Given the description of an element on the screen output the (x, y) to click on. 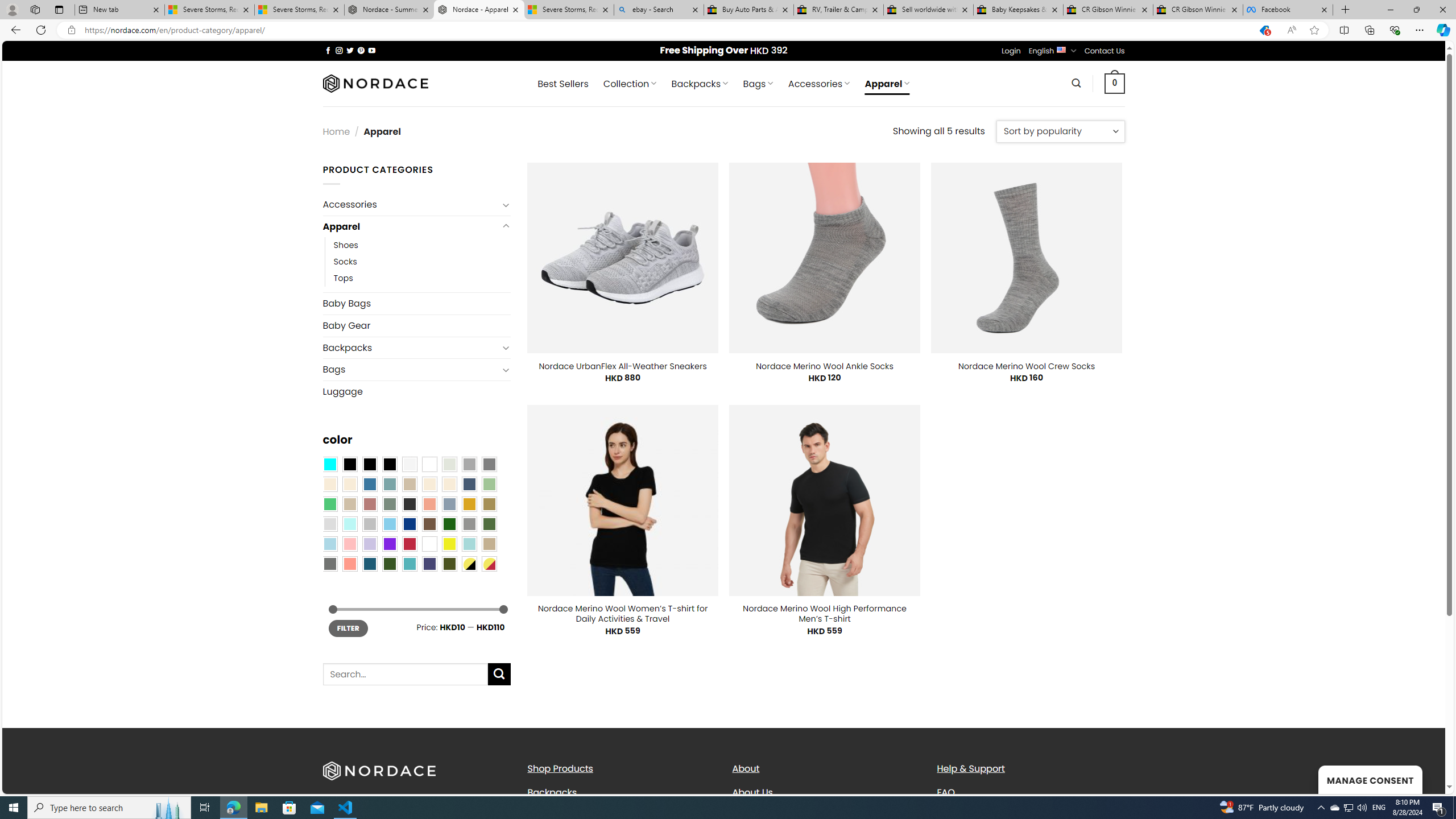
Caramel (429, 483)
Aqua Blue (329, 464)
Apparel (410, 226)
Yellow (449, 543)
Emerald Green (329, 503)
Red (408, 543)
Light Green (488, 483)
 Best Sellers (562, 83)
Shoes (345, 245)
Clear (429, 464)
Nordace Merino Wool Ankle Socks (824, 365)
Gold (468, 503)
